Given the description of an element on the screen output the (x, y) to click on. 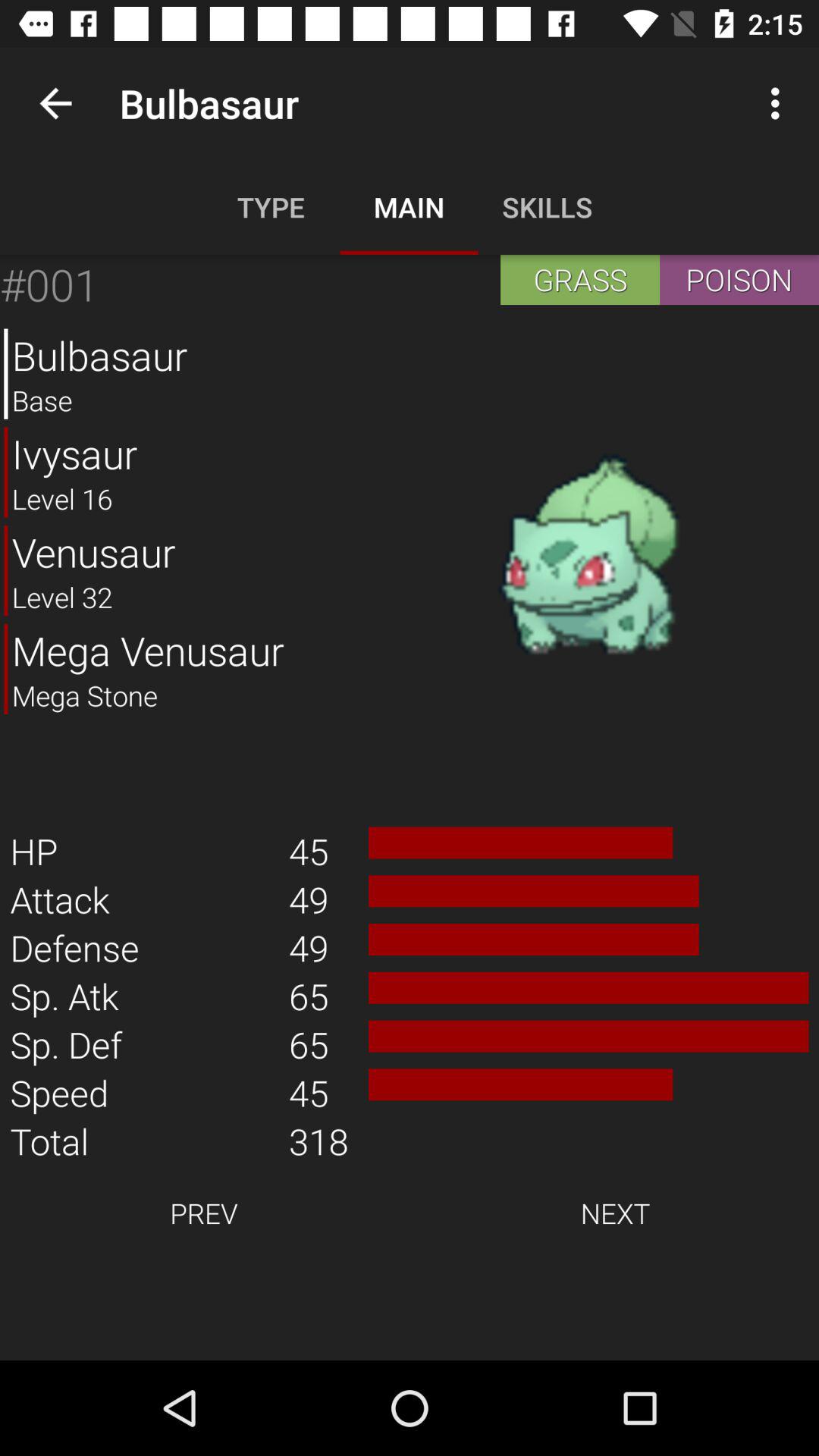
tap icon to the left of bulbasaur item (55, 103)
